Given the description of an element on the screen output the (x, y) to click on. 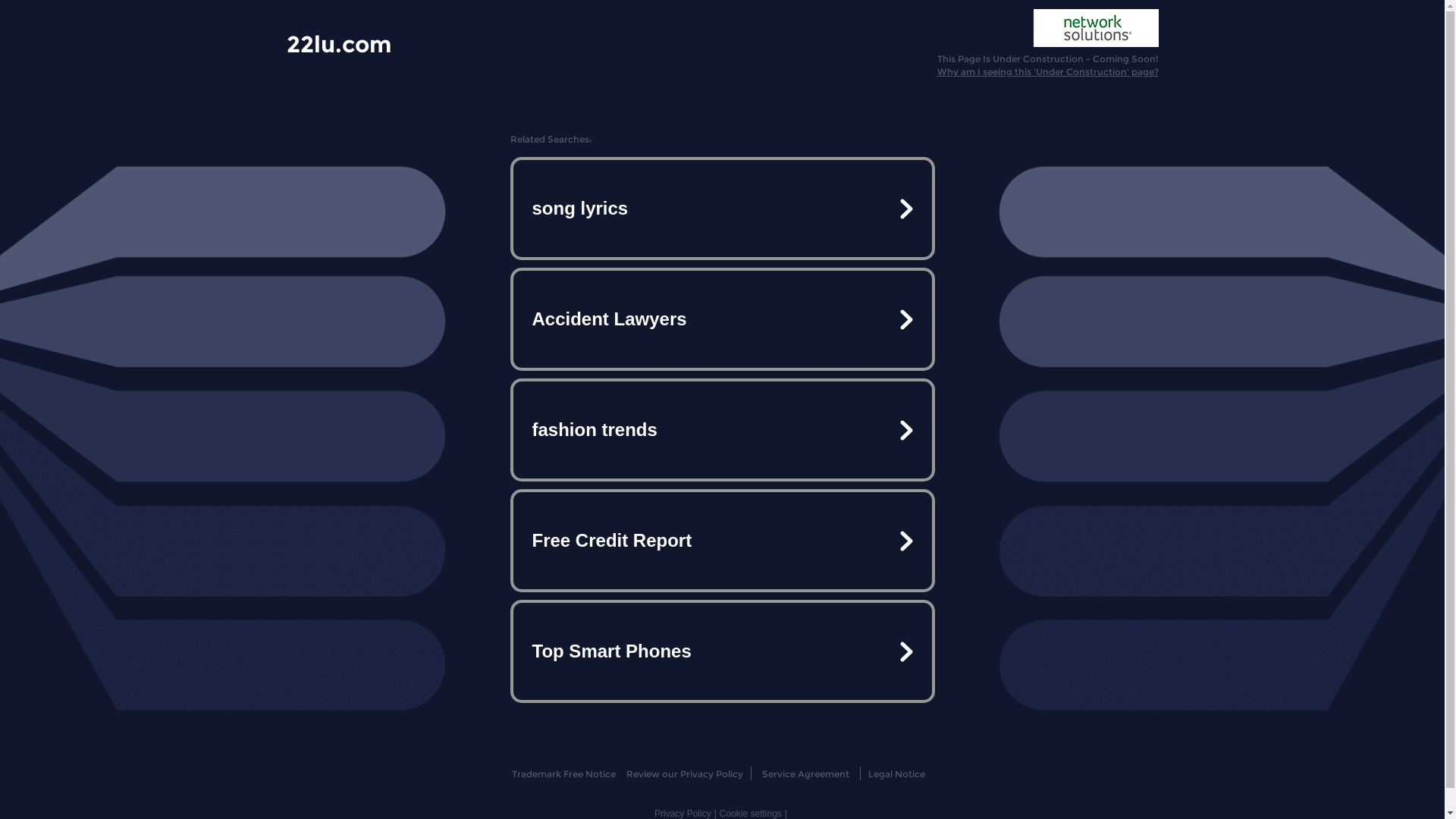
Why am I seeing this 'Under Construction' page? Element type: text (1047, 71)
Free Credit Report Element type: text (721, 540)
Trademark Free Notice Element type: text (563, 773)
Top Smart Phones Element type: text (721, 650)
22lu.com Element type: text (338, 43)
Service Agreement Element type: text (805, 773)
Legal Notice Element type: text (896, 773)
Review our Privacy Policy Element type: text (684, 773)
song lyrics Element type: text (721, 208)
fashion trends Element type: text (721, 429)
Accident Lawyers Element type: text (721, 318)
